Given the description of an element on the screen output the (x, y) to click on. 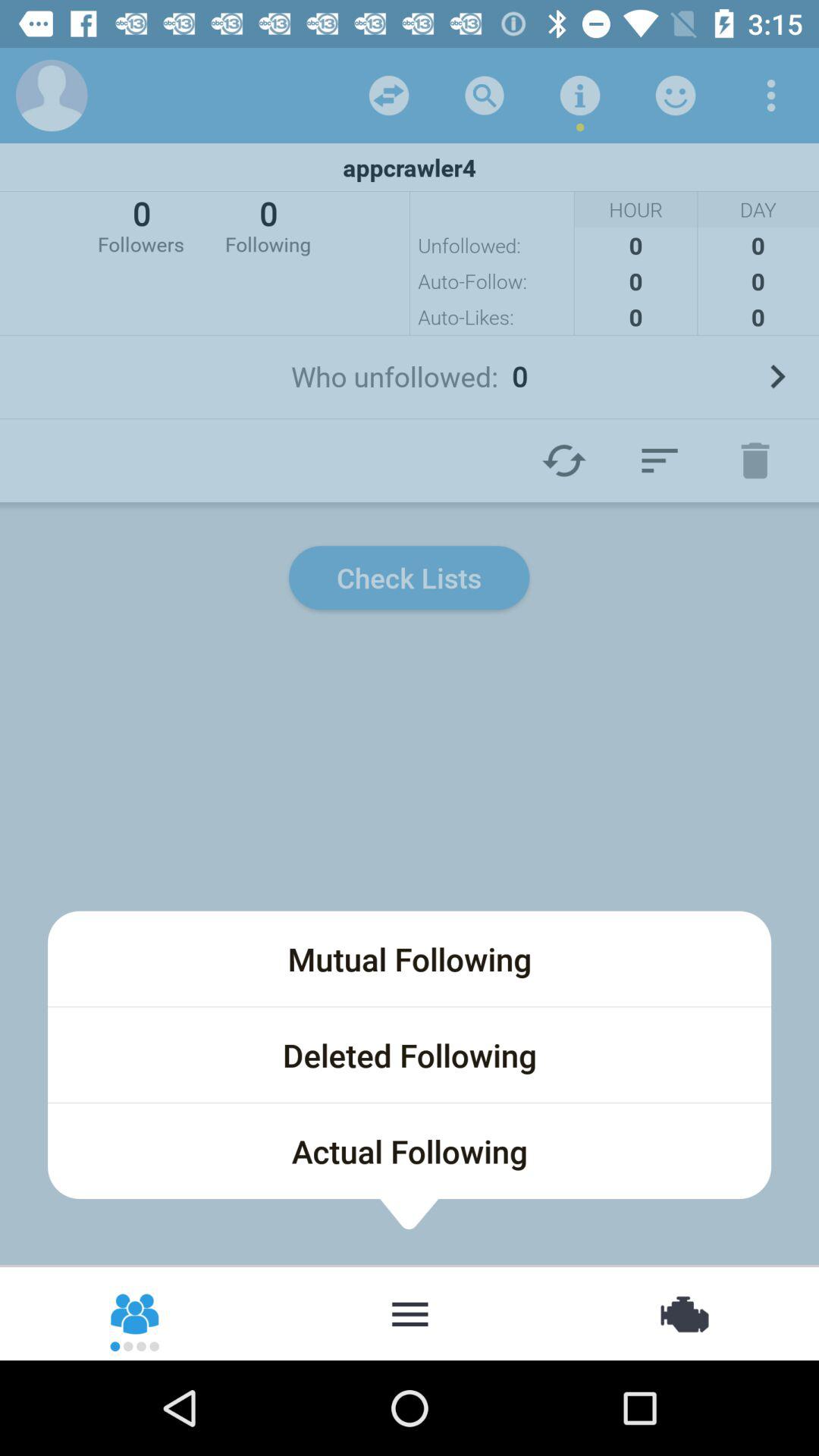
go to more options (771, 95)
